Given the description of an element on the screen output the (x, y) to click on. 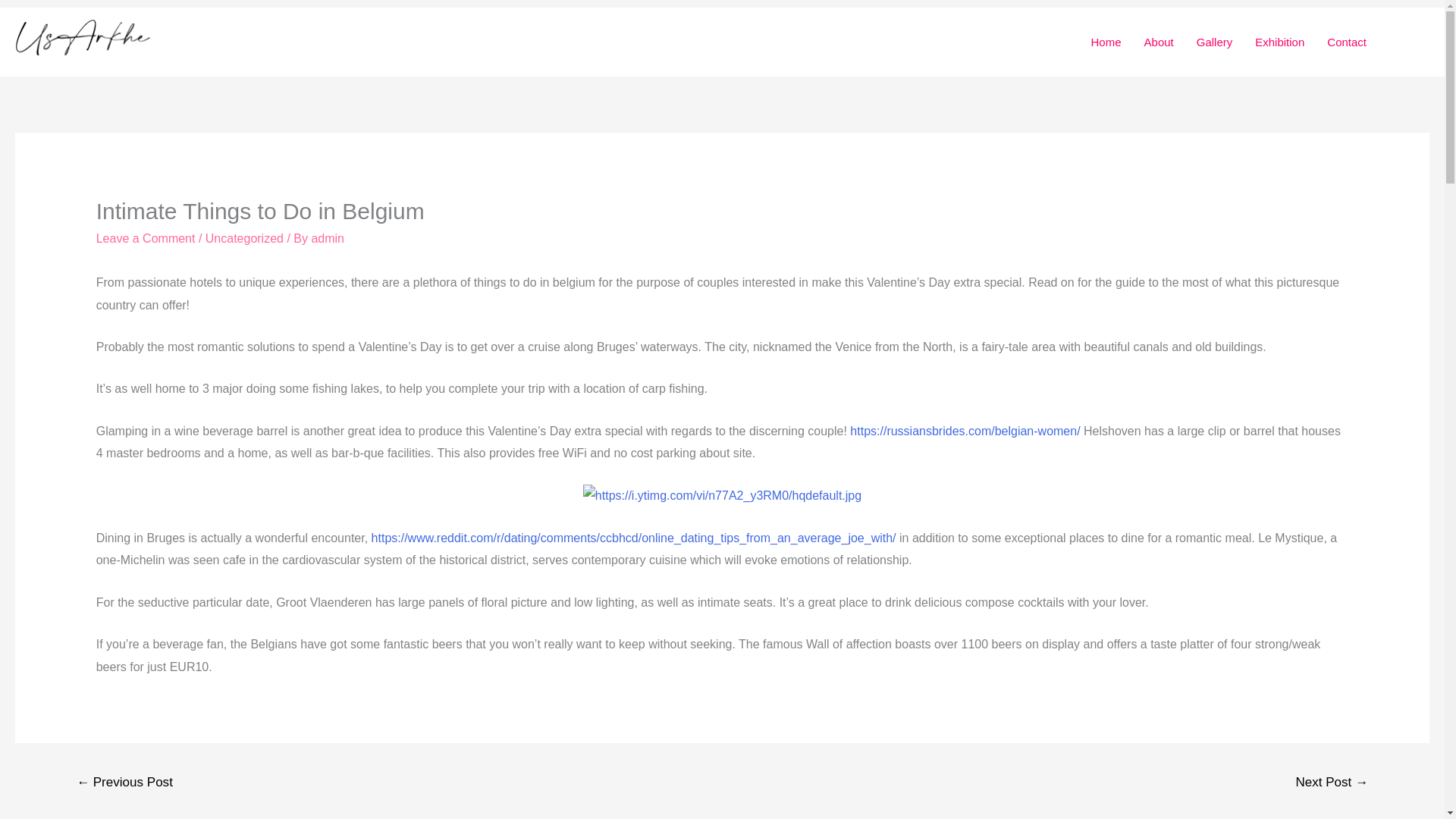
About (1158, 41)
Home (1106, 41)
Gallery (1214, 41)
admin (327, 237)
Contact (1346, 41)
Uncategorized (244, 237)
Leave a Comment (145, 237)
View all posts by admin (327, 237)
Exhibition (1279, 41)
